Given the description of an element on the screen output the (x, y) to click on. 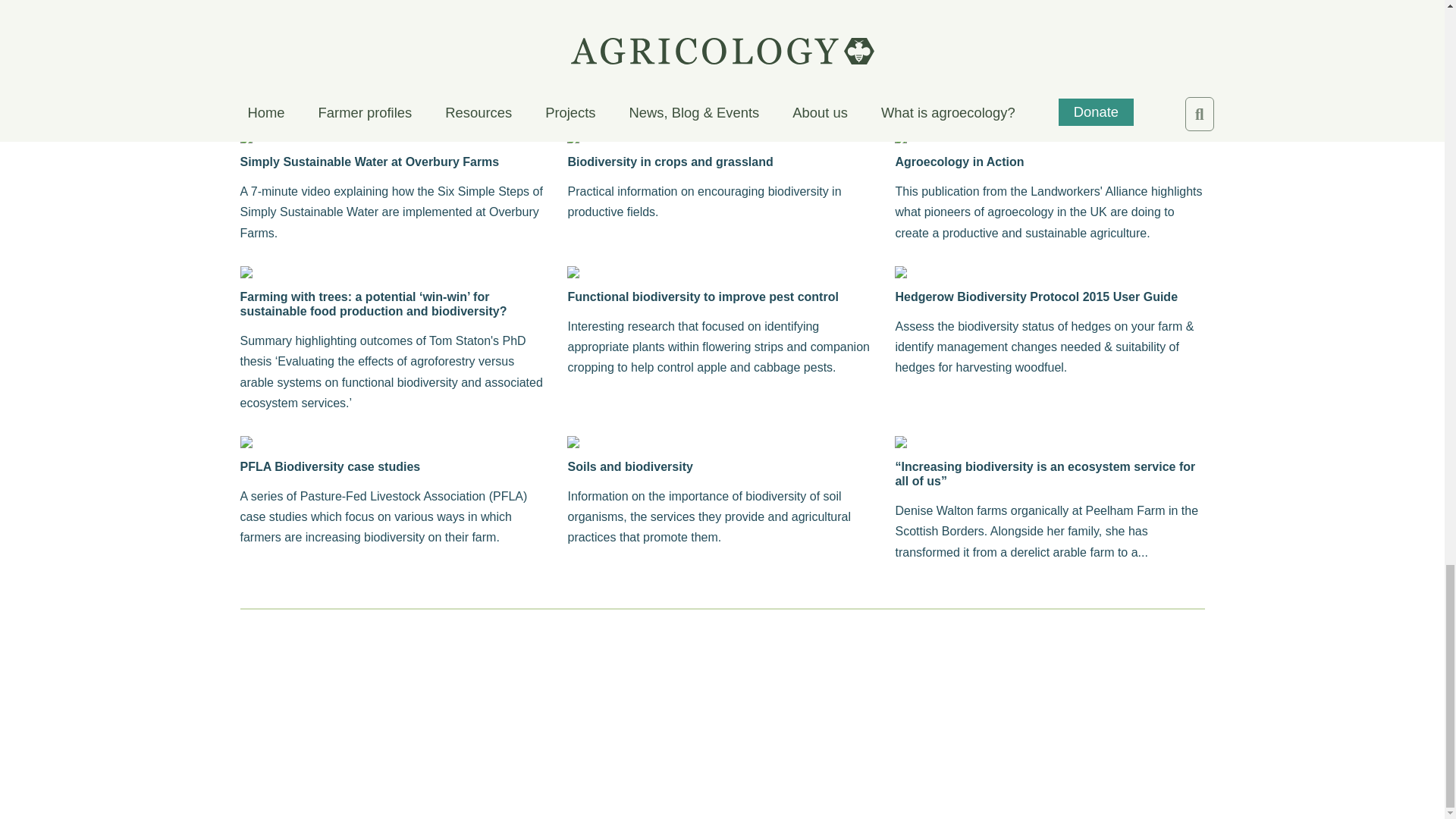
Simply Sustainable Integrated Pest Management (394, 6)
Simply Sustainable Water at Overbury Farms (394, 161)
Simply Sustainable Water (1049, 6)
Simply Sustainable Soils (721, 6)
Biodiversity in crops and grassland (721, 161)
